Given the description of an element on the screen output the (x, y) to click on. 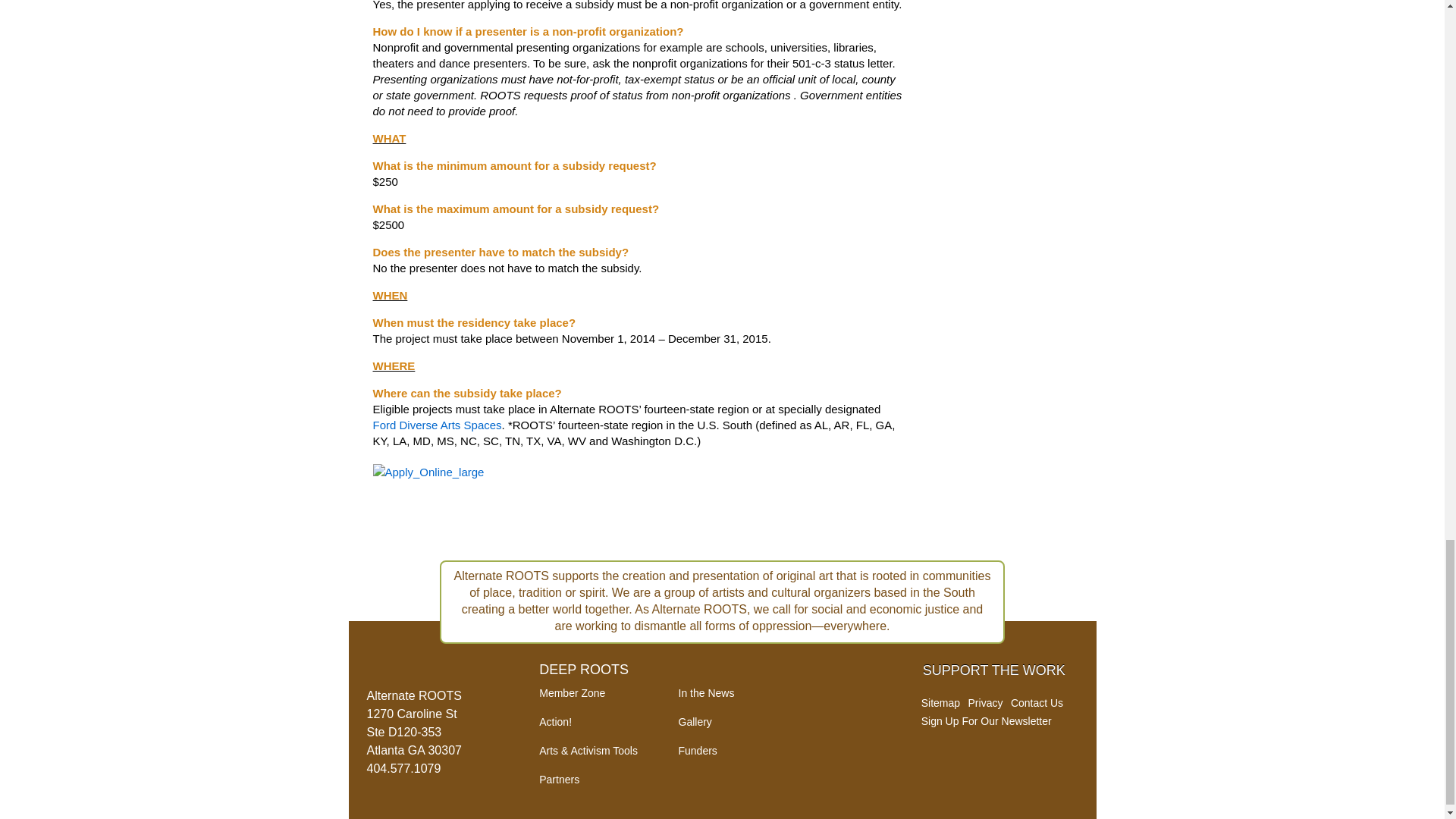
Partners (558, 779)
Action! (555, 721)
Sign Up For Our Newsletter (986, 720)
In the News (705, 693)
Privacy (985, 702)
Member Zone (571, 693)
Ford Diverse Arts Spaces (437, 424)
Funders (697, 750)
SUPPORT THE WORK (994, 670)
Sitemap (940, 702)
Contact Us (1036, 702)
Presenting Subsidies Application (435, 476)
Gallery (694, 721)
